Given the description of an element on the screen output the (x, y) to click on. 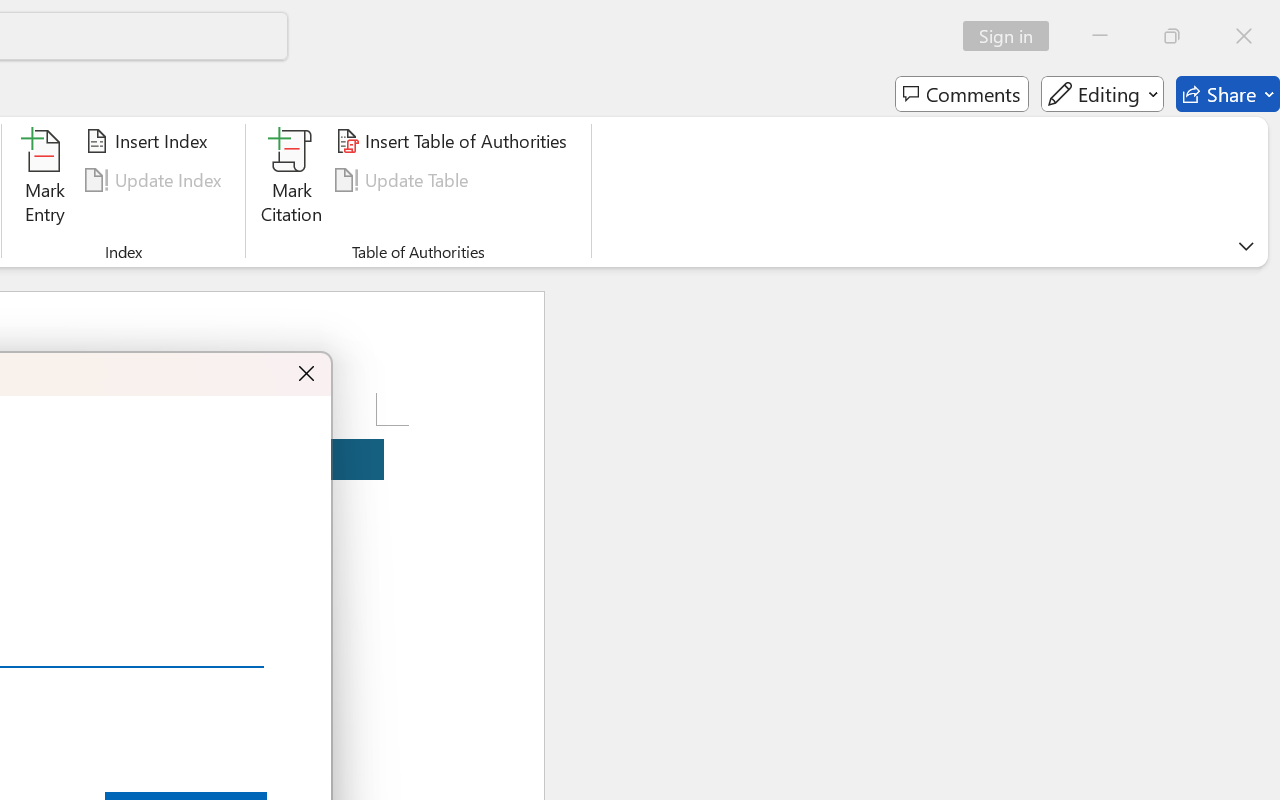
Sign in (1012, 35)
Update Table (404, 179)
Update Index (156, 179)
Insert Table of Authorities... (453, 141)
Editing (1101, 94)
Insert Index... (149, 141)
Mark Entry... (44, 179)
Mark Citation... (292, 179)
